Given the description of an element on the screen output the (x, y) to click on. 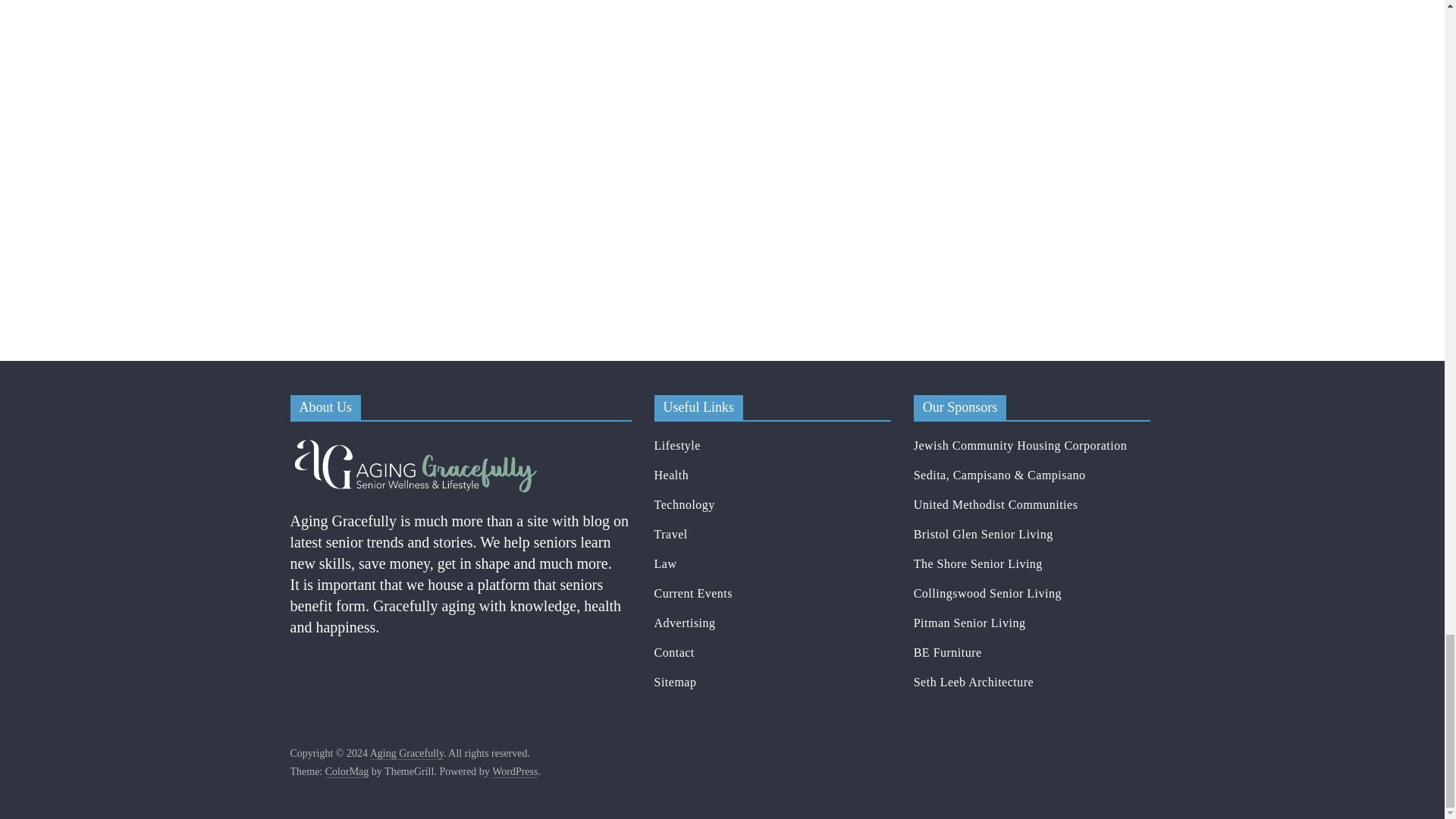
WordPress (514, 771)
Aging Gracefully (414, 443)
ColorMag (346, 771)
Aging Gracefully (406, 753)
